Given the description of an element on the screen output the (x, y) to click on. 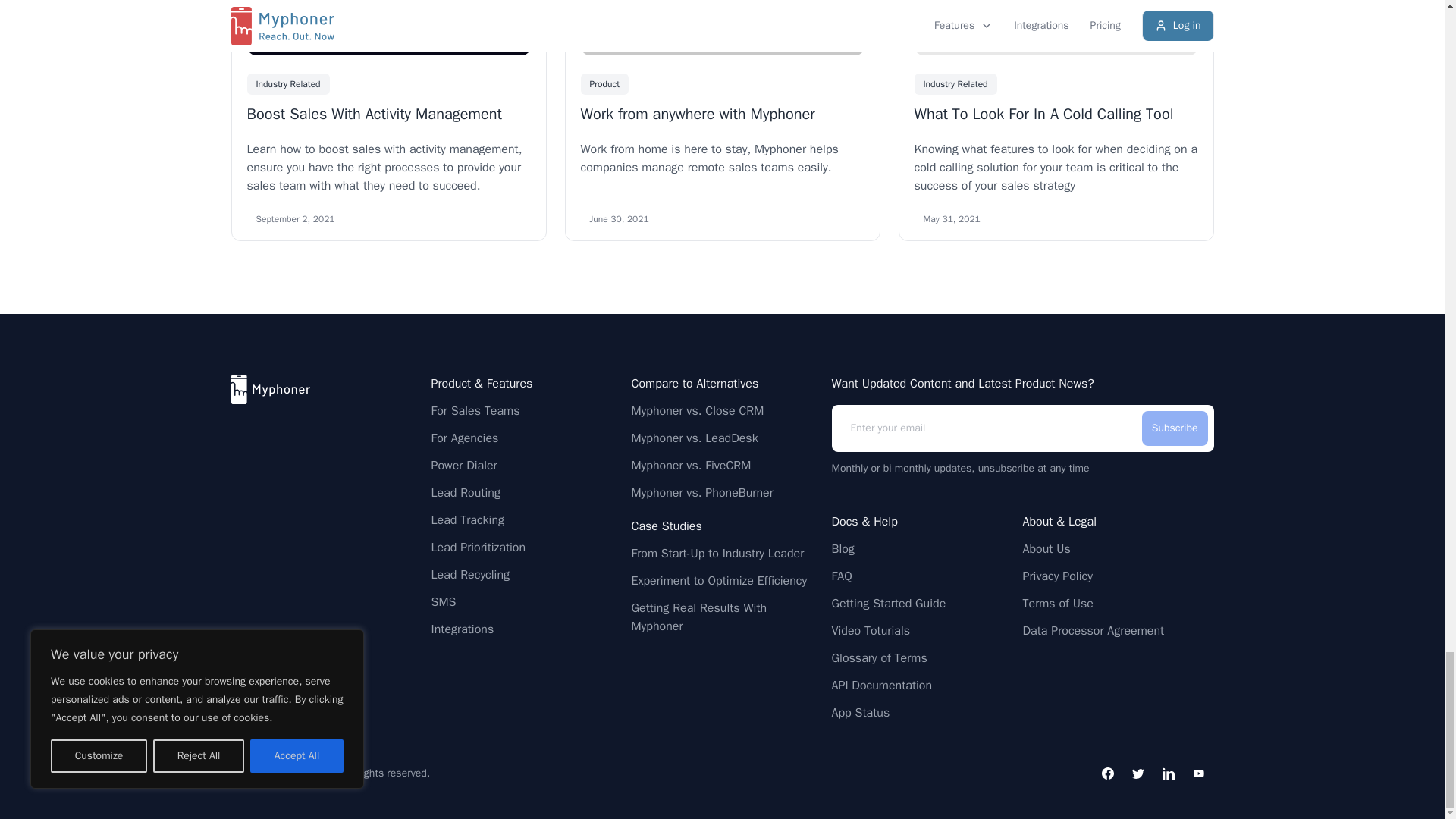
Myphoner on YouTube (1197, 773)
Myphoner on LinkedIn (1167, 773)
Myphoner on Facebook (1107, 773)
